Given the description of an element on the screen output the (x, y) to click on. 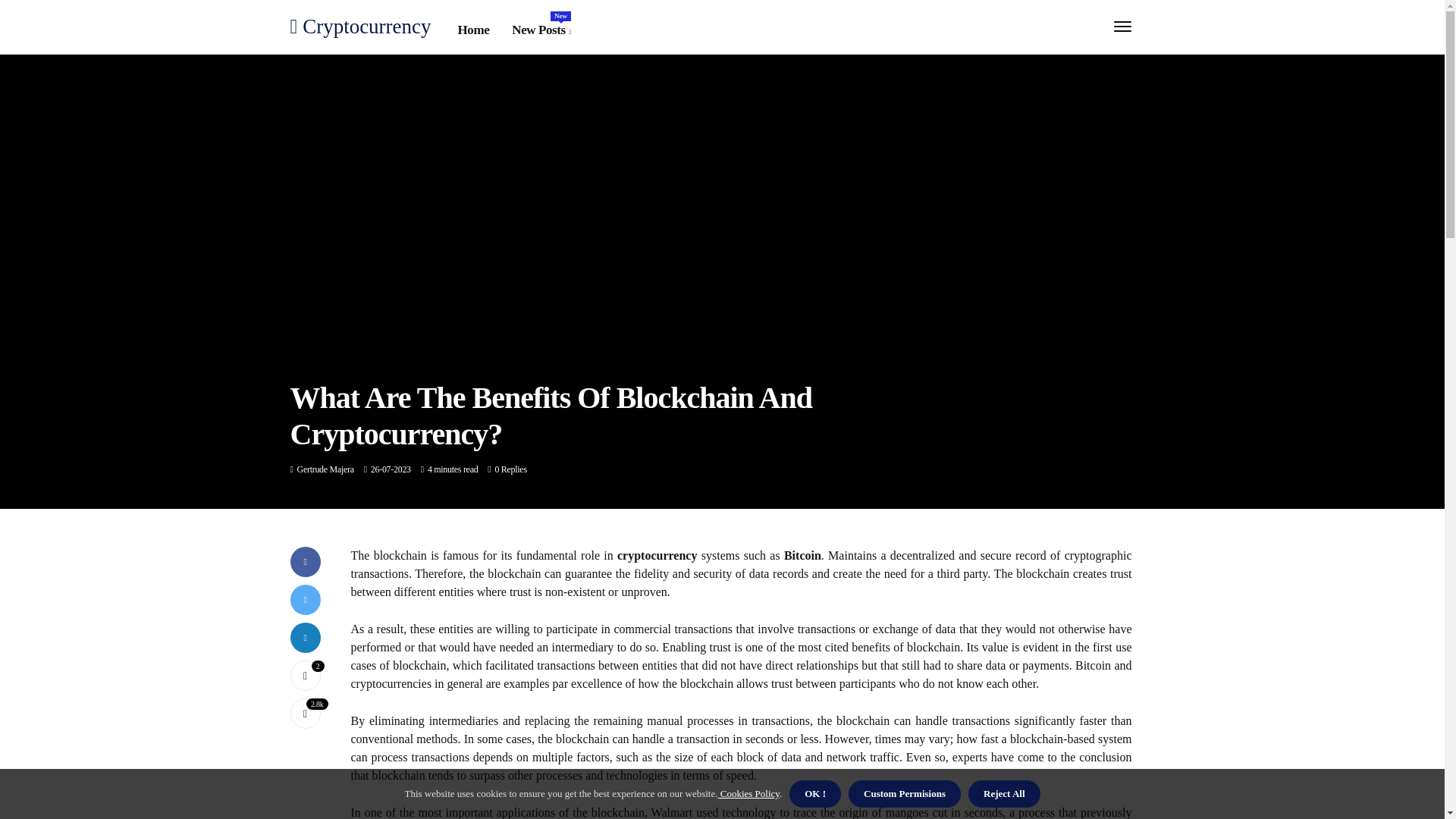
0 Replies (510, 469)
Posts by Gertrude Majera (325, 469)
Like (304, 675)
Cryptocurrency (359, 26)
2 (541, 30)
Gertrude Majera (304, 675)
